Given the description of an element on the screen output the (x, y) to click on. 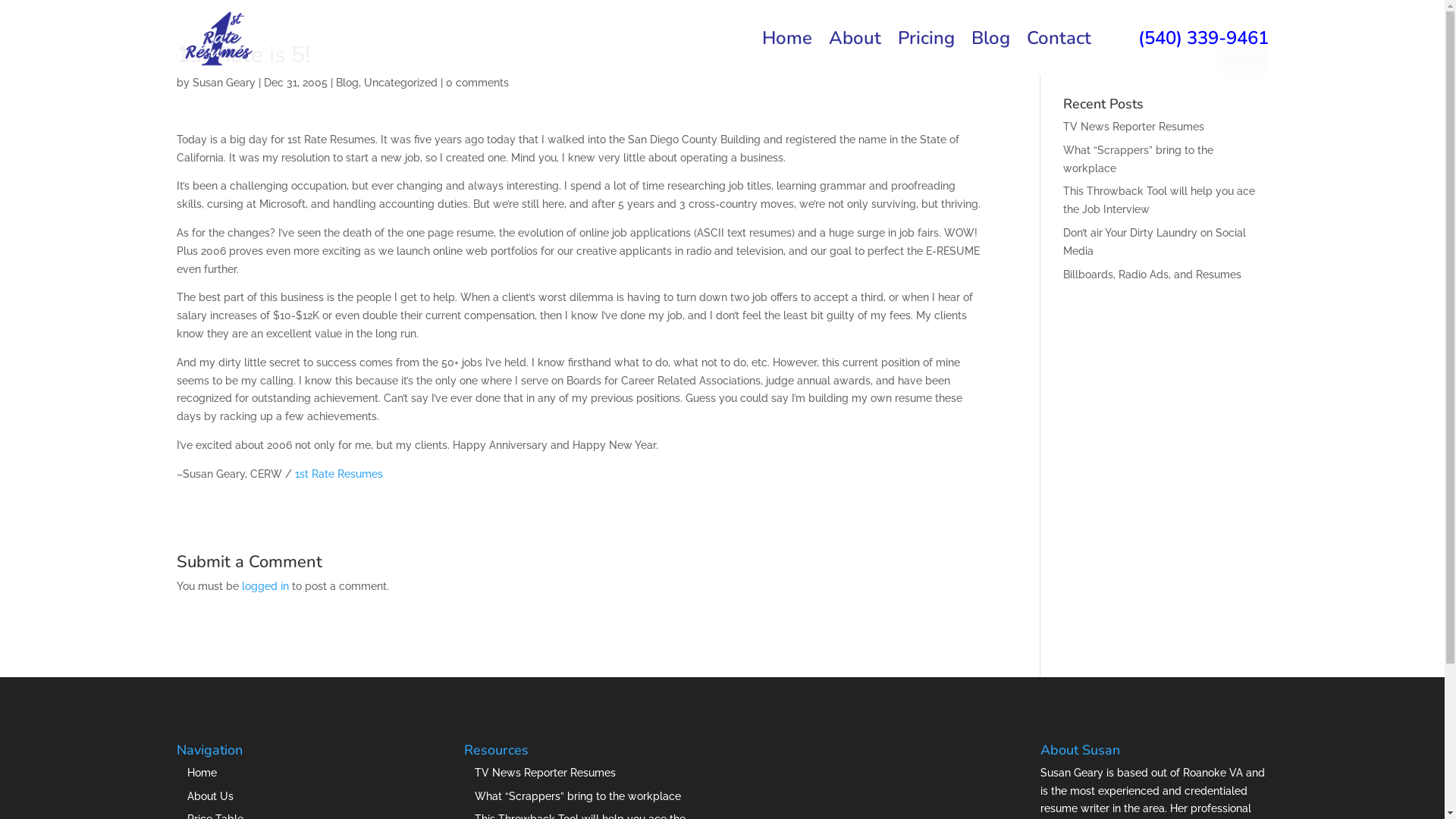
1st Rate Resumes Element type: text (338, 473)
About Element type: text (854, 53)
Susan Geary Element type: text (223, 82)
Billboards, Radio Ads, and Resumes Element type: text (1152, 274)
About Us Element type: text (209, 796)
TV News Reporter Resumes Element type: text (544, 772)
Pricing Element type: text (925, 53)
logged in Element type: text (264, 586)
TV News Reporter Resumes Element type: text (1133, 126)
Blog Element type: text (989, 53)
(540) 339-9461 Element type: text (1187, 53)
0 comments Element type: text (476, 82)
Home Element type: text (201, 772)
Uncategorized Element type: text (400, 82)
This Throwback Tool will help you ace the Job Interview Element type: text (1159, 200)
Contact Element type: text (1058, 53)
Home Element type: text (786, 53)
Blog Element type: text (346, 82)
Search Element type: text (1242, 58)
